Given the description of an element on the screen output the (x, y) to click on. 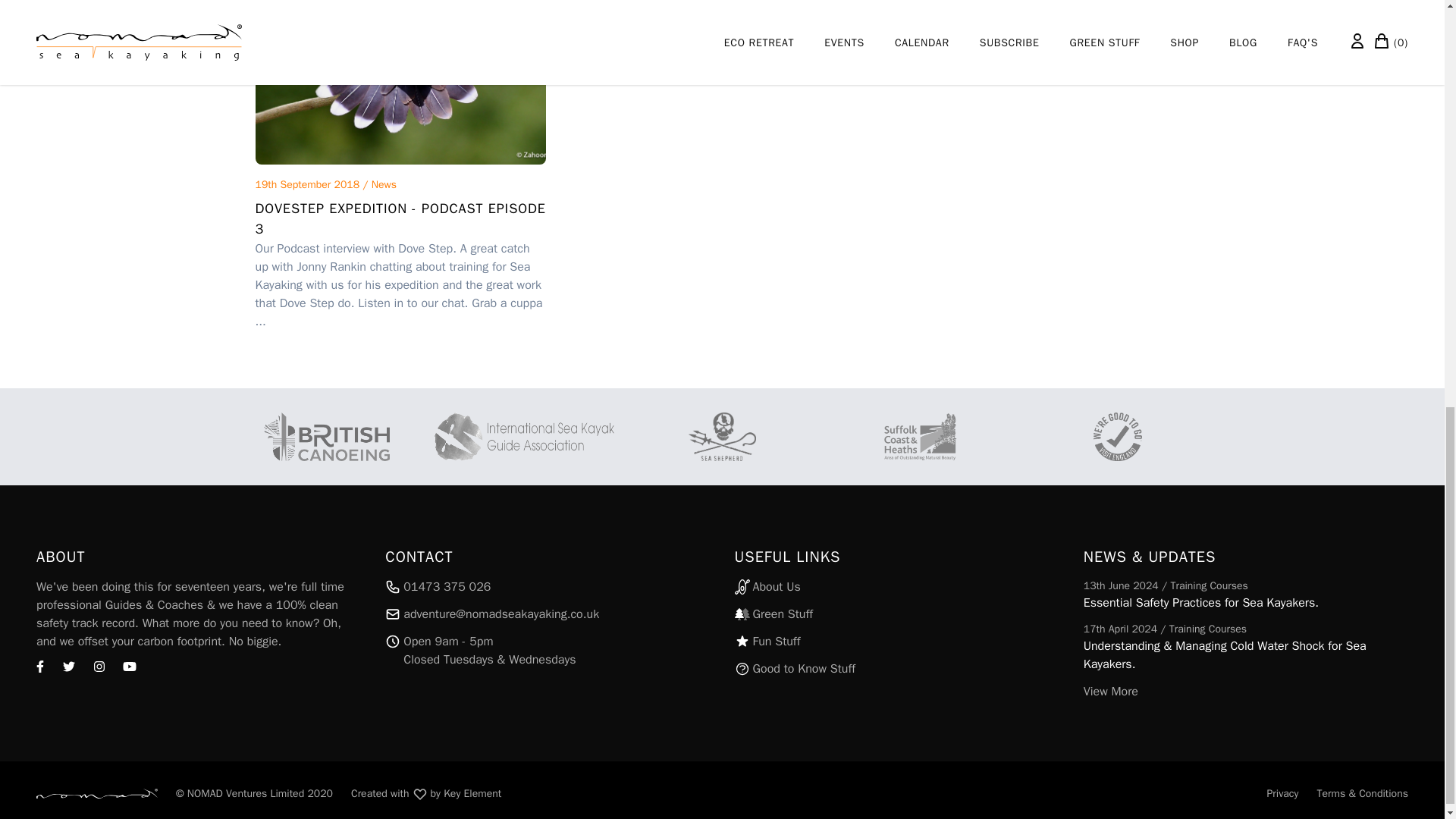
Privacy (1282, 793)
Green Stuff (425, 793)
Good to Know Stuff (895, 614)
About Us (895, 669)
View More (895, 587)
01473 375 026 (1245, 691)
Fun Stuff (547, 587)
